Given the description of an element on the screen output the (x, y) to click on. 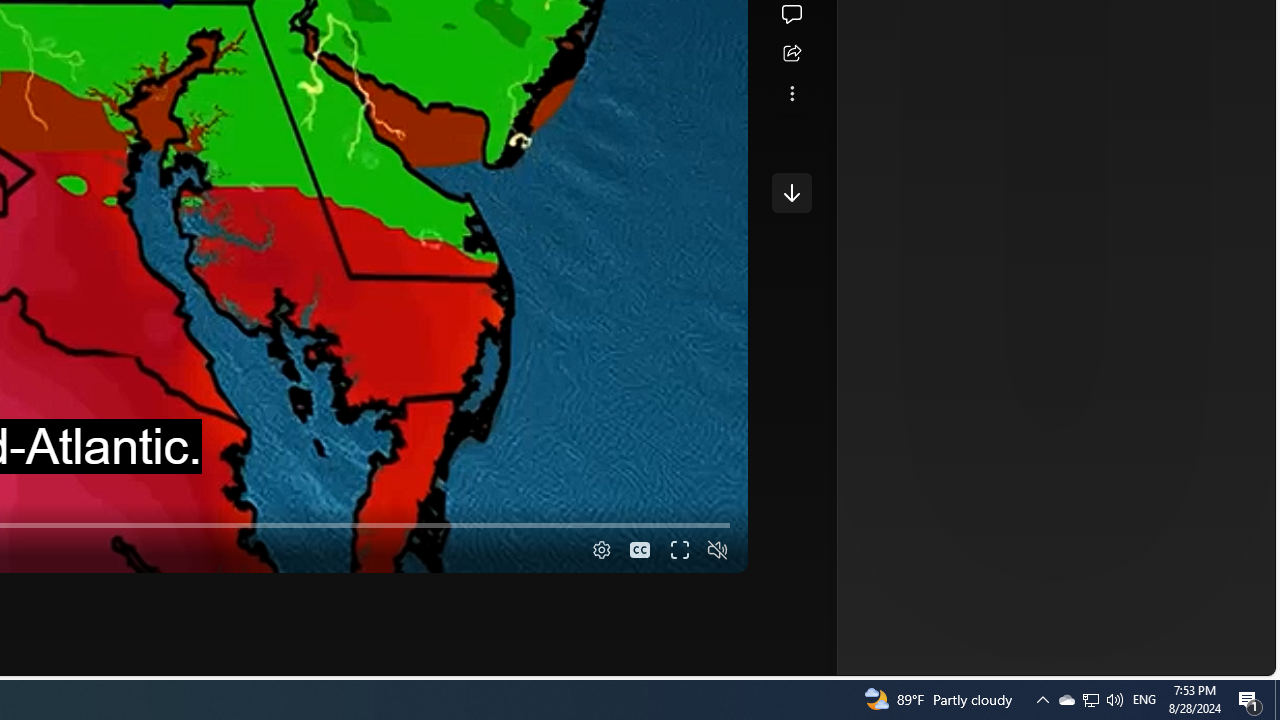
Captions (639, 550)
Share this story (791, 53)
ABC News (777, 12)
